Given the description of an element on the screen output the (x, y) to click on. 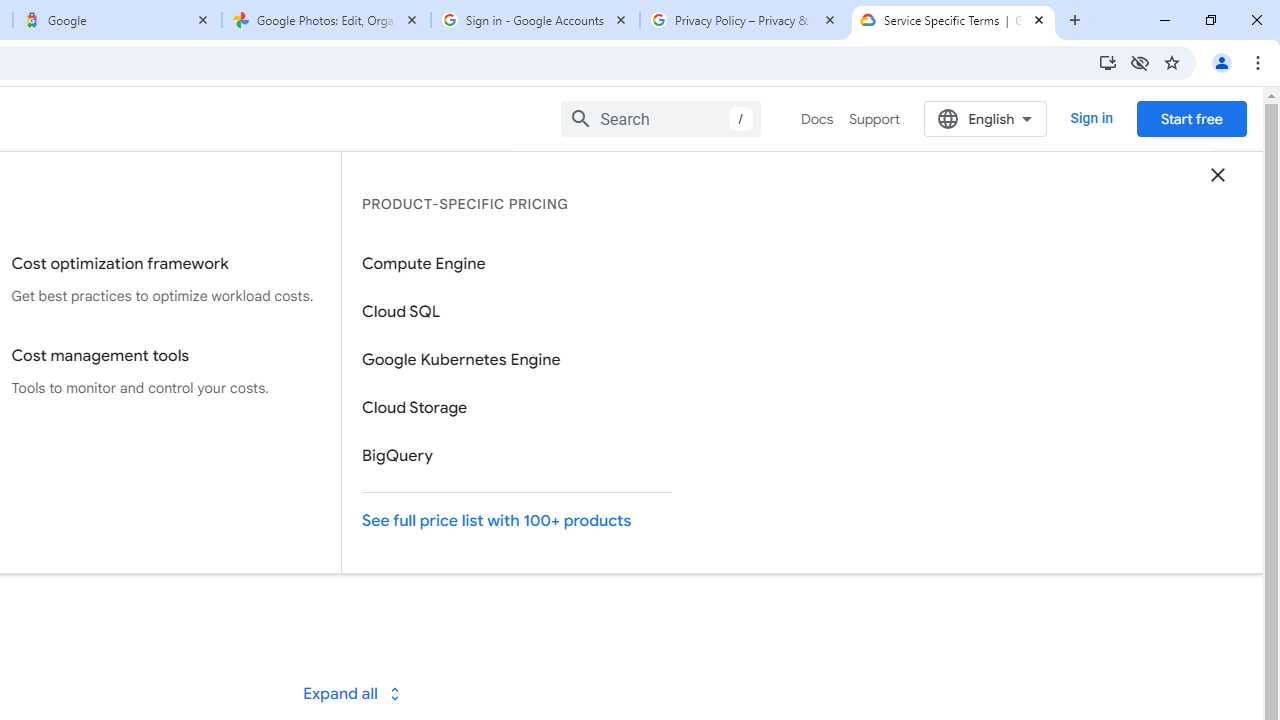
Cloud Storage (517, 407)
Close dropdown menu (1217, 174)
Cloud SQL (517, 312)
Docs (817, 119)
BigQuery (517, 456)
Install Google Cloud (1107, 62)
Toggle all (351, 692)
Start free (1191, 118)
